Given the description of an element on the screen output the (x, y) to click on. 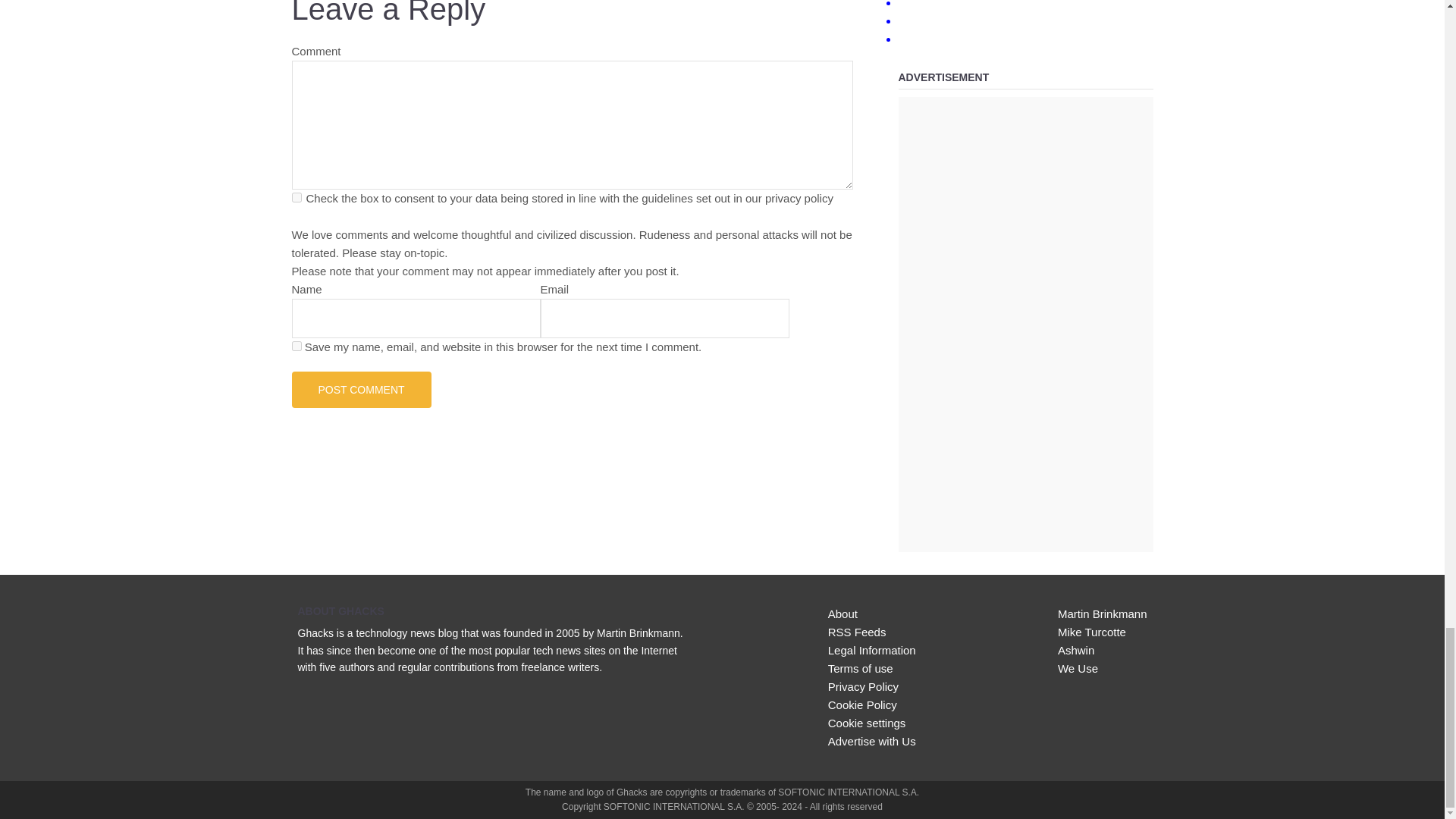
Post Comment (360, 389)
yes (296, 346)
privacy-key (296, 197)
